Given the description of an element on the screen output the (x, y) to click on. 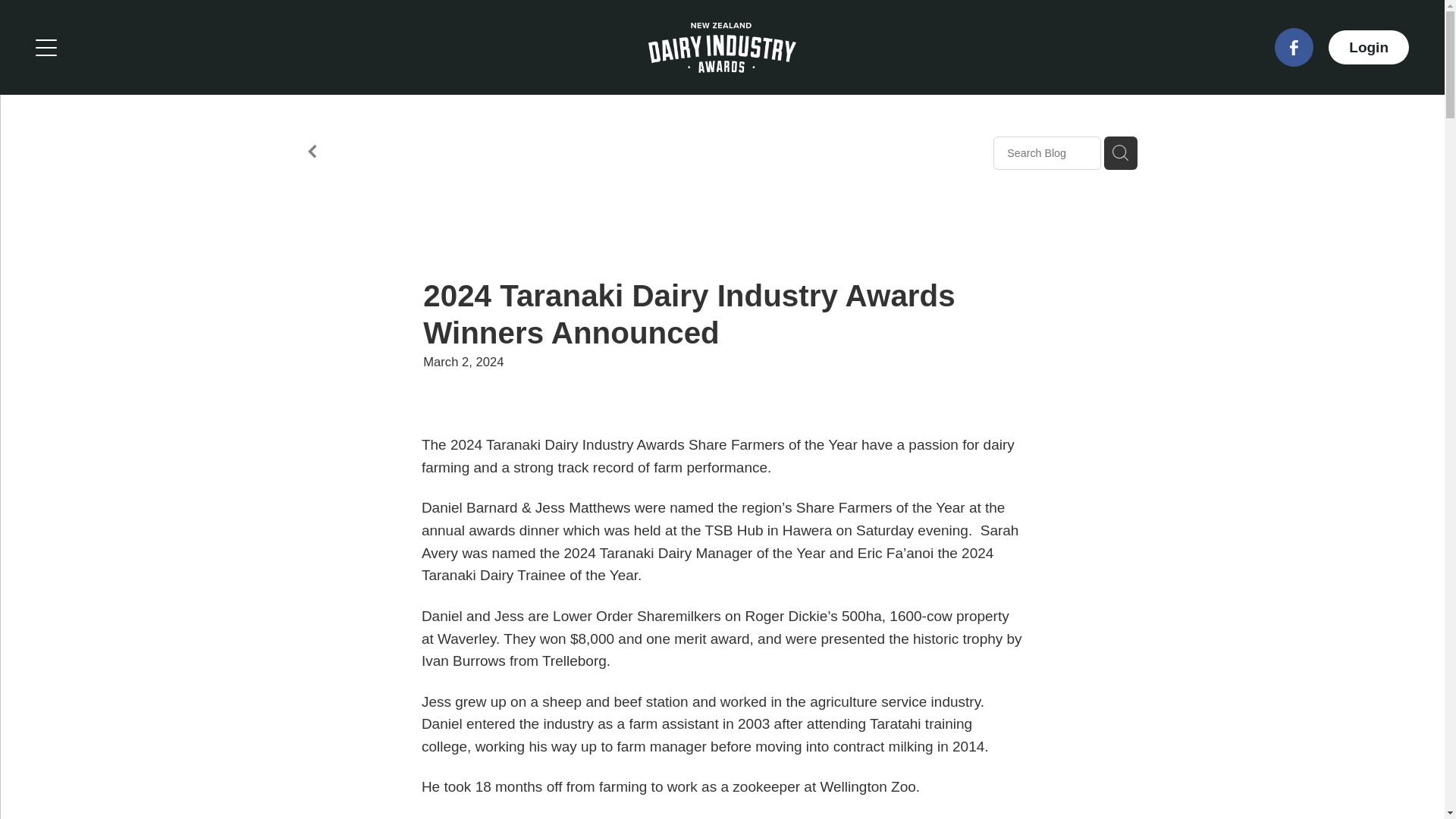
Login (1368, 47)
A link to this website's Facebook. (1294, 46)
